Given the description of an element on the screen output the (x, y) to click on. 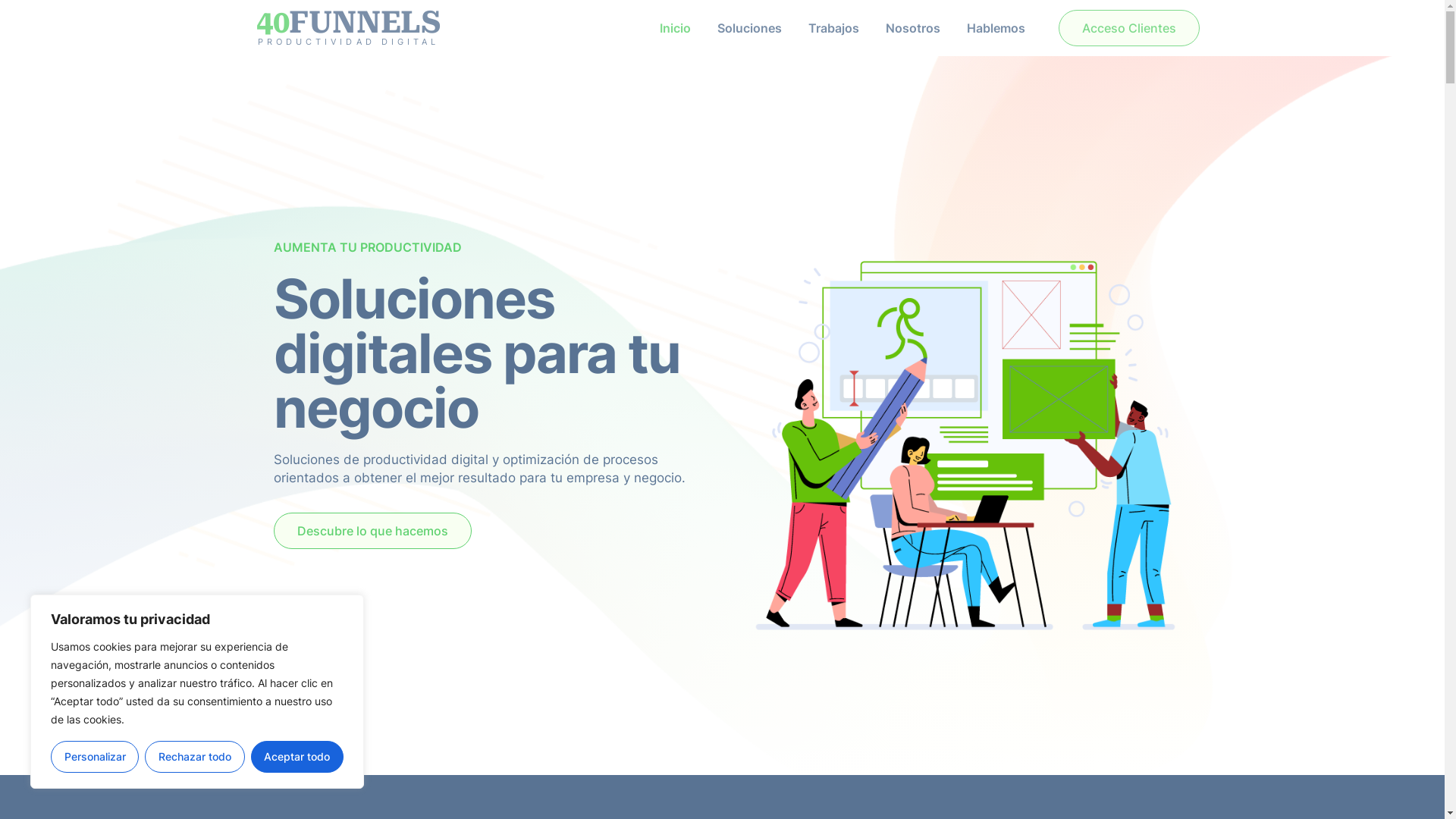
Personalizar Element type: text (94, 756)
Soluciones Element type: text (749, 27)
Acceso Clientes Element type: text (1128, 27)
Nosotros Element type: text (912, 27)
Trabajos Element type: text (833, 27)
Hablemos Element type: text (995, 27)
Aceptar todo Element type: text (297, 756)
Inicio Element type: text (674, 27)
Rechazar todo Element type: text (194, 756)
Descubre lo que hacemos Element type: text (371, 530)
